Given the description of an element on the screen output the (x, y) to click on. 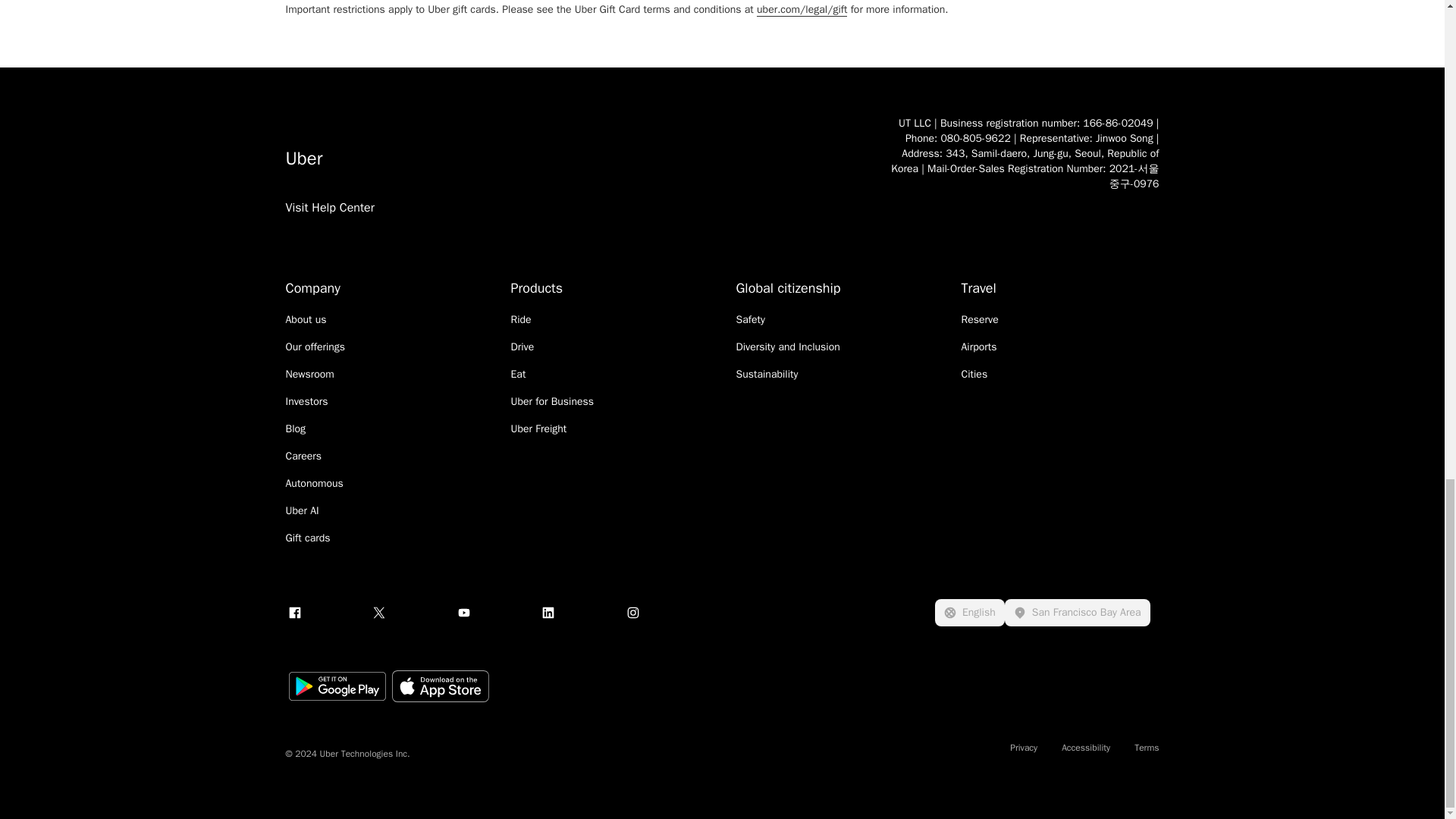
Drive (522, 346)
Uber (572, 157)
Investors (306, 401)
Ride (521, 319)
Autonomous (313, 483)
Blog (295, 428)
Our offerings (315, 346)
Visit Help Center (329, 226)
Careers (303, 456)
Uber AI (301, 510)
